Given the description of an element on the screen output the (x, y) to click on. 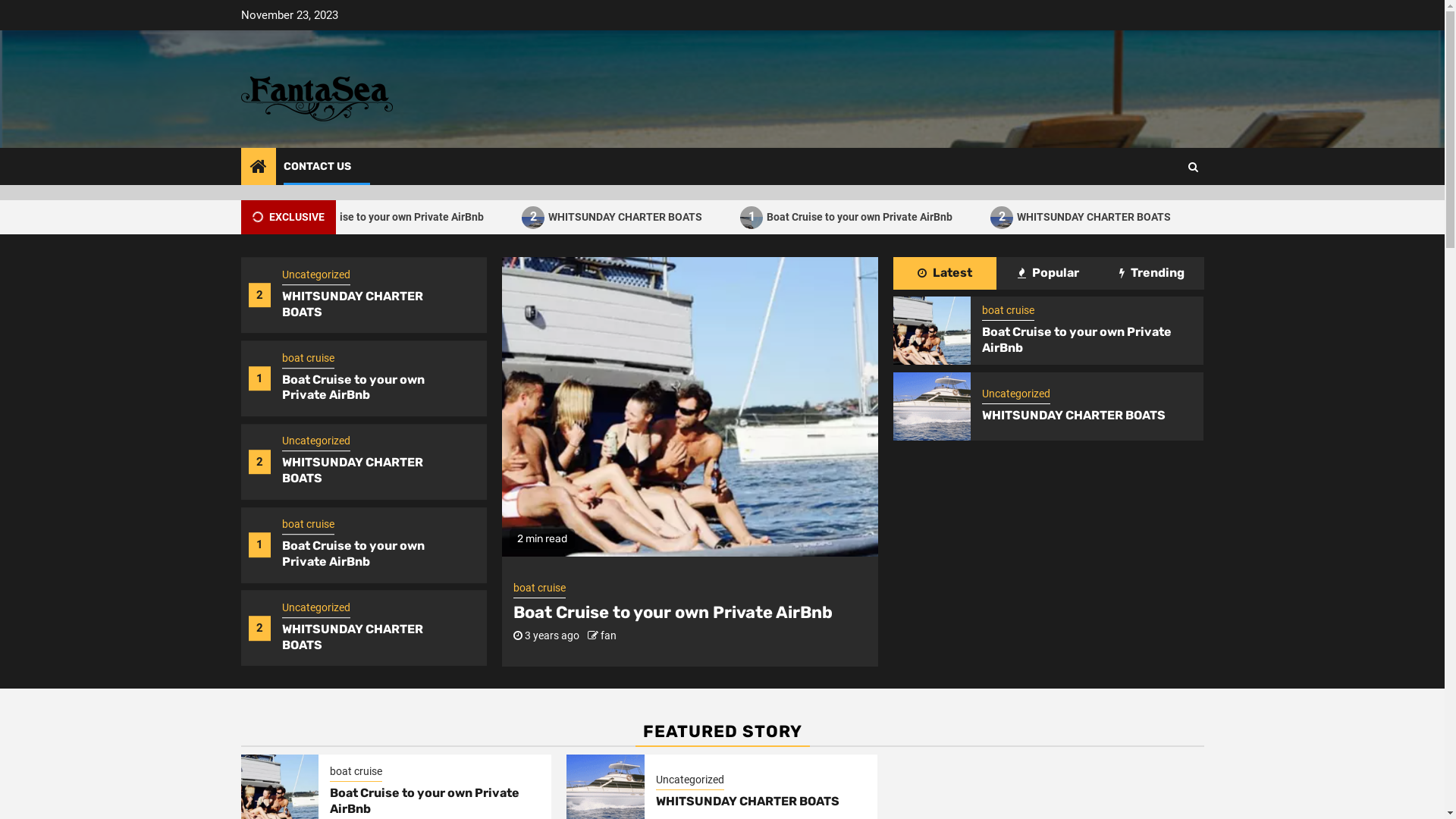
boat cruise Element type: text (308, 359)
1
Boat Cruise to your own Private AirBnb Element type: text (870, 217)
Boat Cruise to your own Private AirBnb Element type: text (1076, 339)
Search Element type: hover (1192, 166)
boat cruise Element type: text (538, 589)
Latest Element type: text (945, 273)
2
WHITSUNDAY CHARTER BOATS Element type: text (1103, 217)
Search Element type: text (1163, 211)
Boat Cruise to your own Private AirBnb Element type: text (353, 387)
Uncategorized Element type: text (689, 780)
Uncategorized Element type: text (316, 275)
Boat Cruise to your own Private AirBnb Element type: text (424, 800)
fan Element type: text (608, 635)
Uncategorized Element type: text (316, 608)
WHITSUNDAY CHARTER BOATS Element type: text (352, 303)
2
WHITSUNDAY CHARTER BOATS Element type: text (636, 217)
Uncategorized Element type: text (316, 442)
Boat Cruise to your own Private AirBnb Element type: text (353, 553)
WHITSUNDAY CHARTER BOATS Element type: text (352, 470)
boat cruise Element type: text (355, 772)
Boat Cruise to your own Private AirBnb Element type: text (671, 612)
Trending Element type: text (1152, 273)
Uncategorized Element type: text (1016, 394)
Popular Element type: text (1048, 273)
WHITSUNDAY CHARTER BOATS Element type: text (1073, 414)
boat cruise Element type: text (308, 525)
Boat Cruise to your own Private AirBnb Element type: text (401, 217)
CONTACT US Element type: text (317, 166)
WHITSUNDAY CHARTER BOATS Element type: text (352, 636)
WHITSUNDAY CHARTER BOATS Element type: text (747, 800)
boat cruise Element type: text (1008, 311)
